Given the description of an element on the screen output the (x, y) to click on. 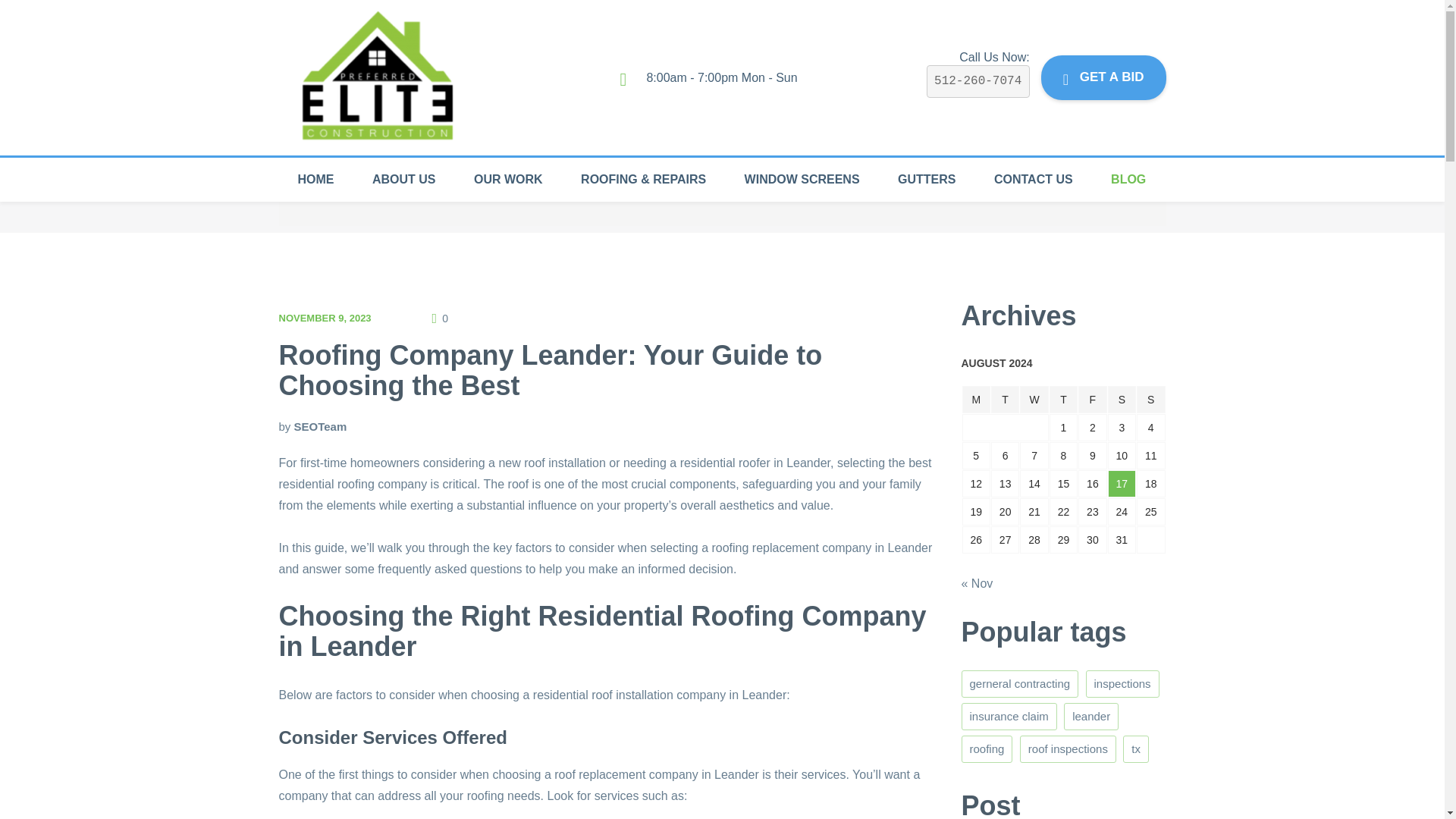
NOVEMBER 9, 2023 (325, 317)
Thursday (1063, 399)
Friday (1092, 399)
HOME (316, 179)
insurance claim (1008, 715)
Roofing Company Leander: Your Guide to Choosing the Best (550, 370)
Monday (975, 399)
ABOUT US (403, 179)
BLOG (1128, 179)
GET A BID (1103, 77)
